Given the description of an element on the screen output the (x, y) to click on. 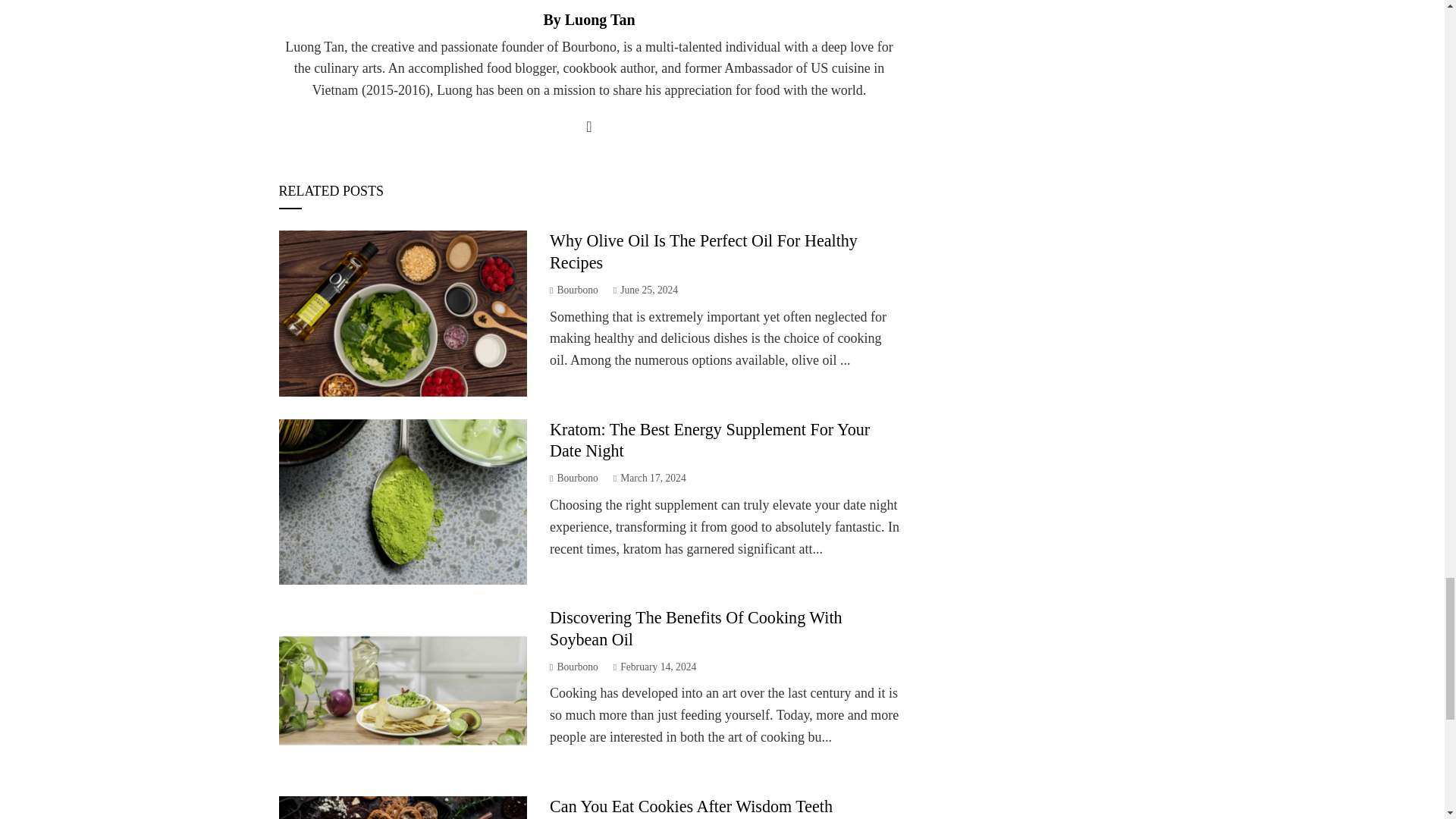
Discovering the Benefits of Cooking with Soybean Oil (696, 628)
Can you eat cookies after wisdom teeth removal? (691, 807)
Why Olive Oil is the Perfect Oil for Healthy Recipes (703, 250)
Kratom: The Best Energy Supplement For Your Date Night (709, 440)
